Given the description of an element on the screen output the (x, y) to click on. 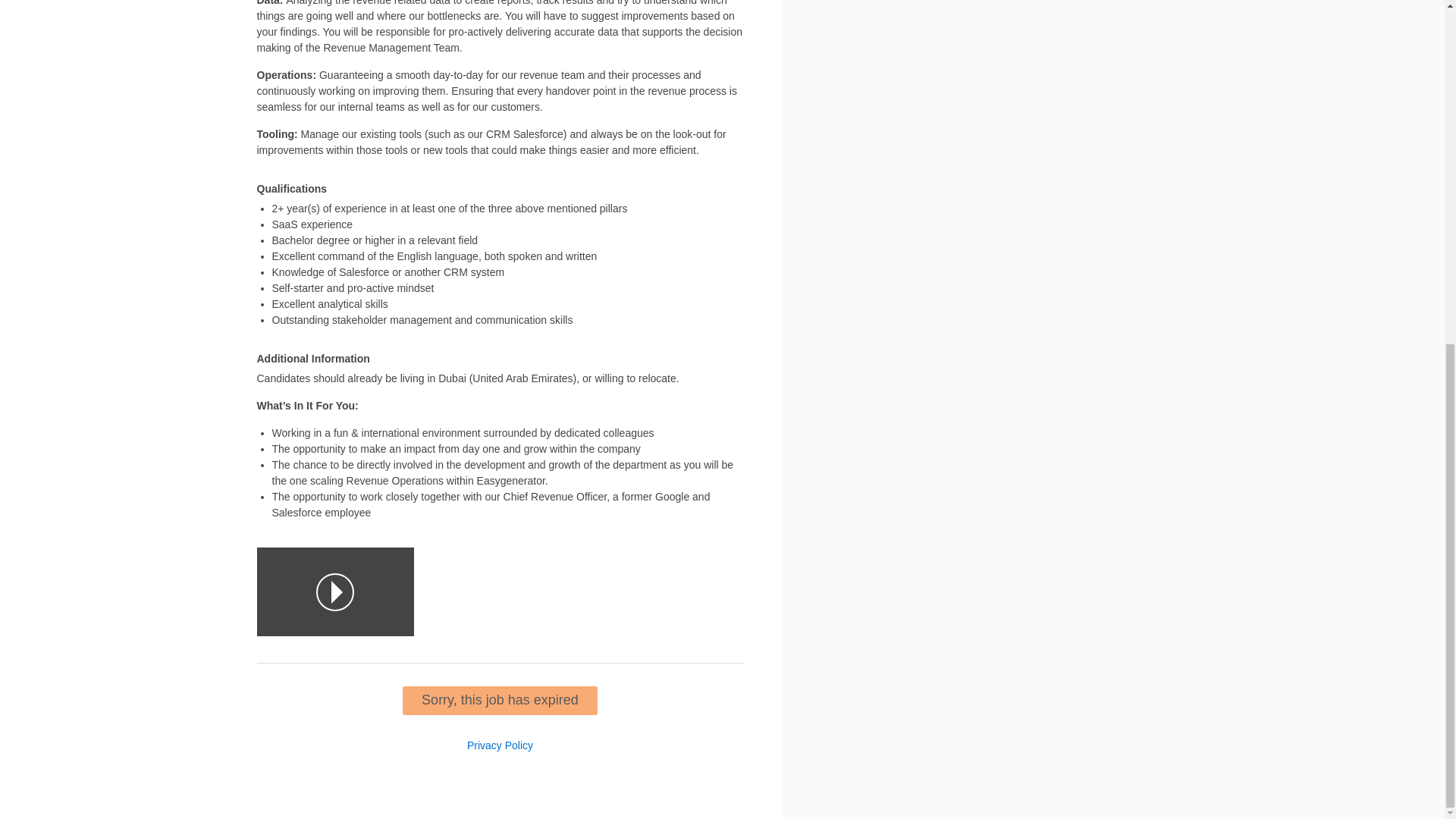
Videos To Watch (334, 591)
Privacy Policy (499, 745)
Sorry, this job has expired (499, 700)
